Given the description of an element on the screen output the (x, y) to click on. 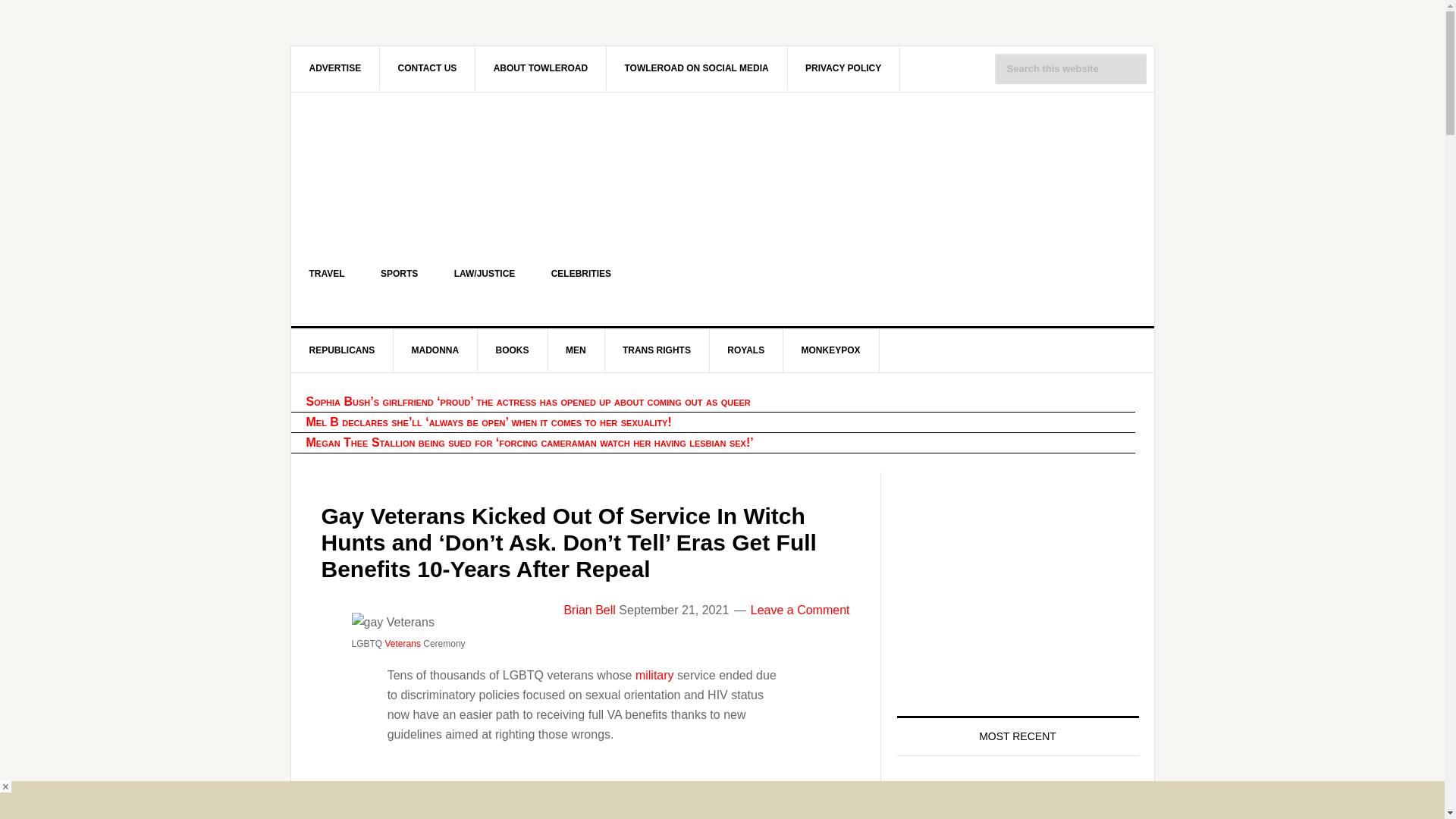
Veterans (402, 643)
REPUBLICANS (342, 349)
MADONNA (436, 349)
BOOKS (512, 349)
ABOUT TOWLEROAD (541, 67)
TRANS RIGHTS (657, 349)
TRAVEL (326, 273)
SPORTS (398, 273)
MONKEYPOX (831, 349)
